Given the description of an element on the screen output the (x, y) to click on. 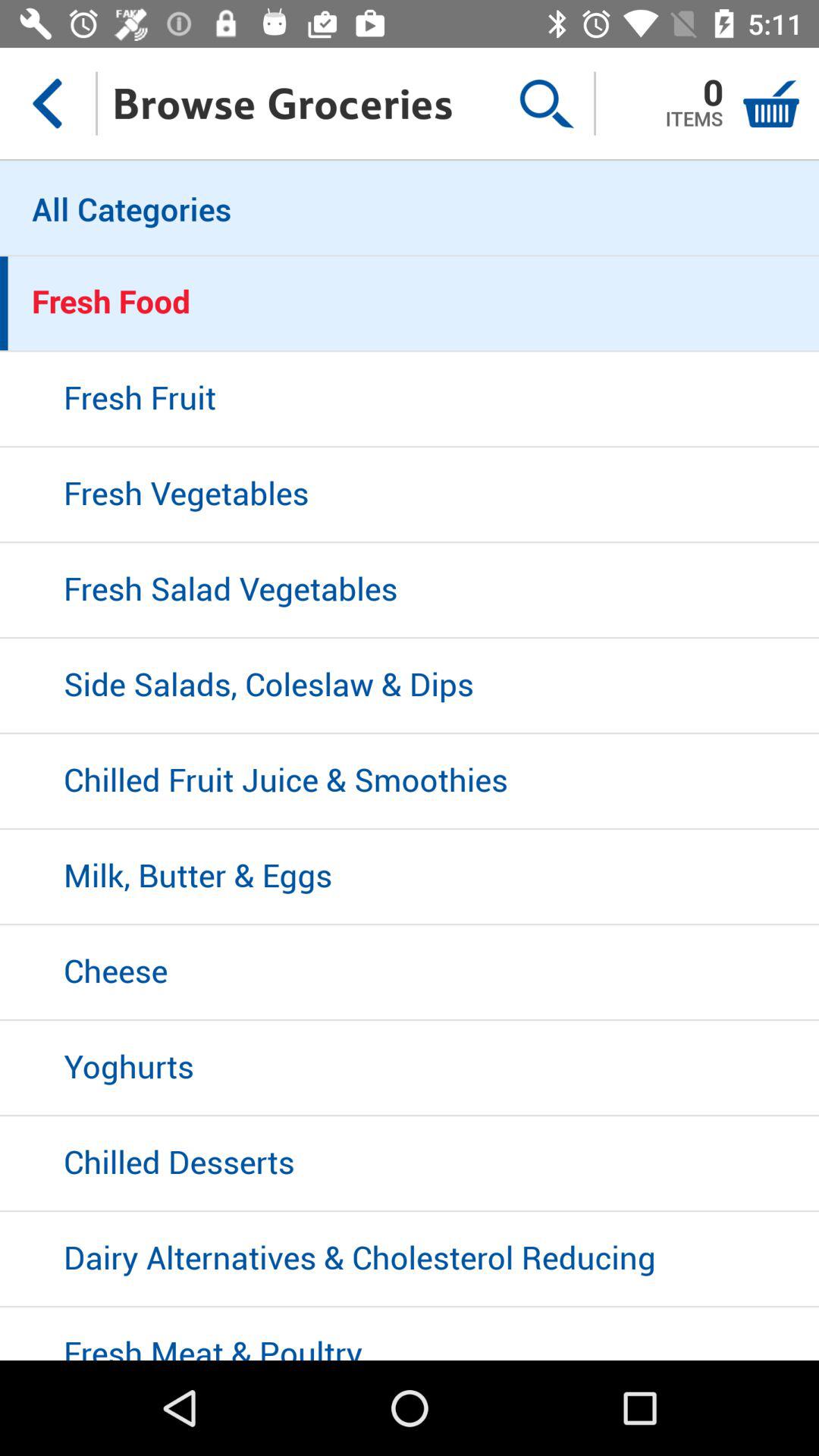
swipe until the chilled fruit juice item (409, 781)
